Given the description of an element on the screen output the (x, y) to click on. 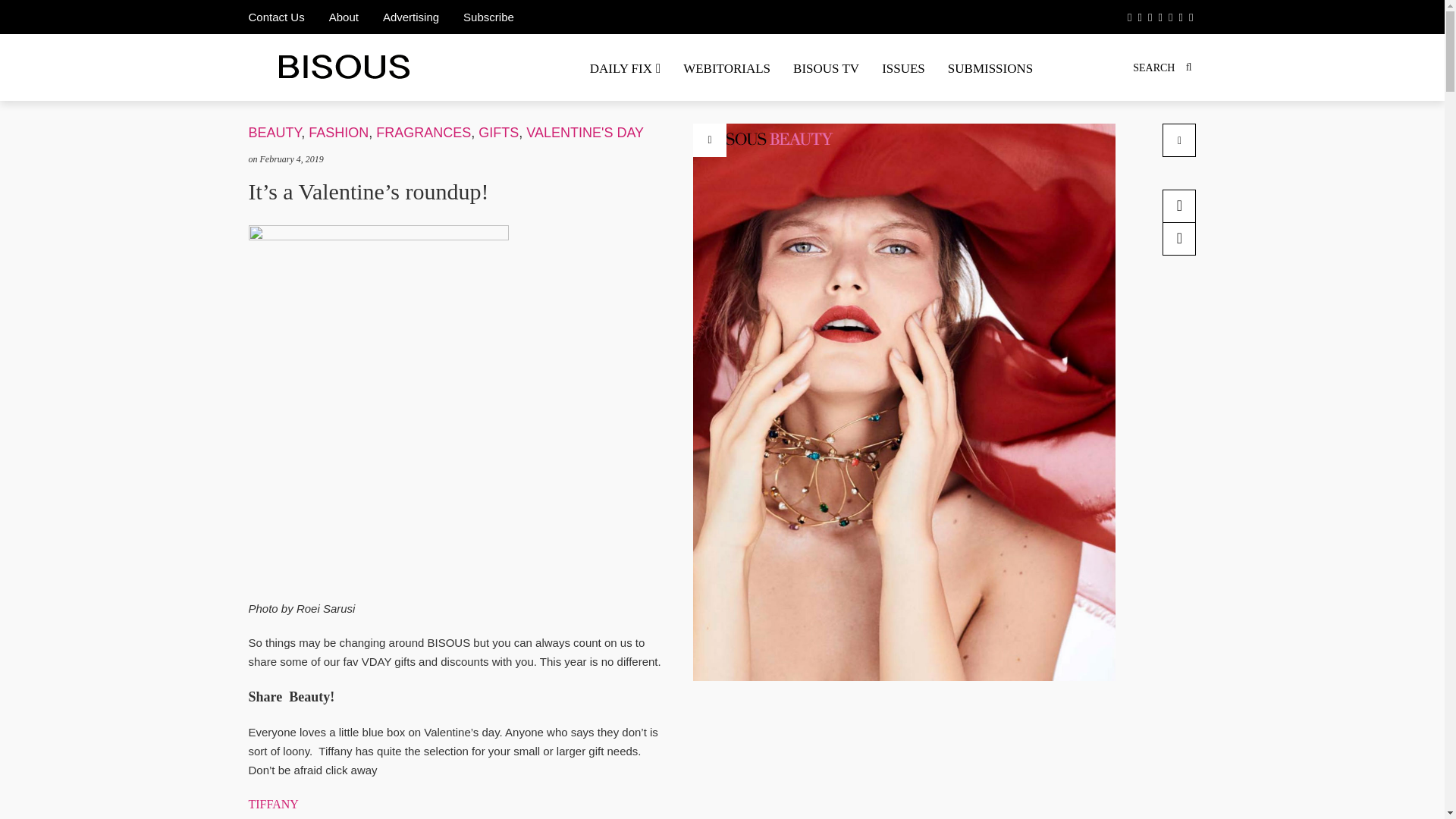
BEAUTY (274, 132)
Advertising (410, 17)
Contact Us (275, 17)
FRAGRANCES (422, 132)
DAILY FIX (624, 68)
Subscribe (488, 17)
BISOUS TV (825, 68)
GIFTS (498, 132)
VALENTINE'S DAY (584, 132)
WEBITORIALS (726, 68)
